Given the description of an element on the screen output the (x, y) to click on. 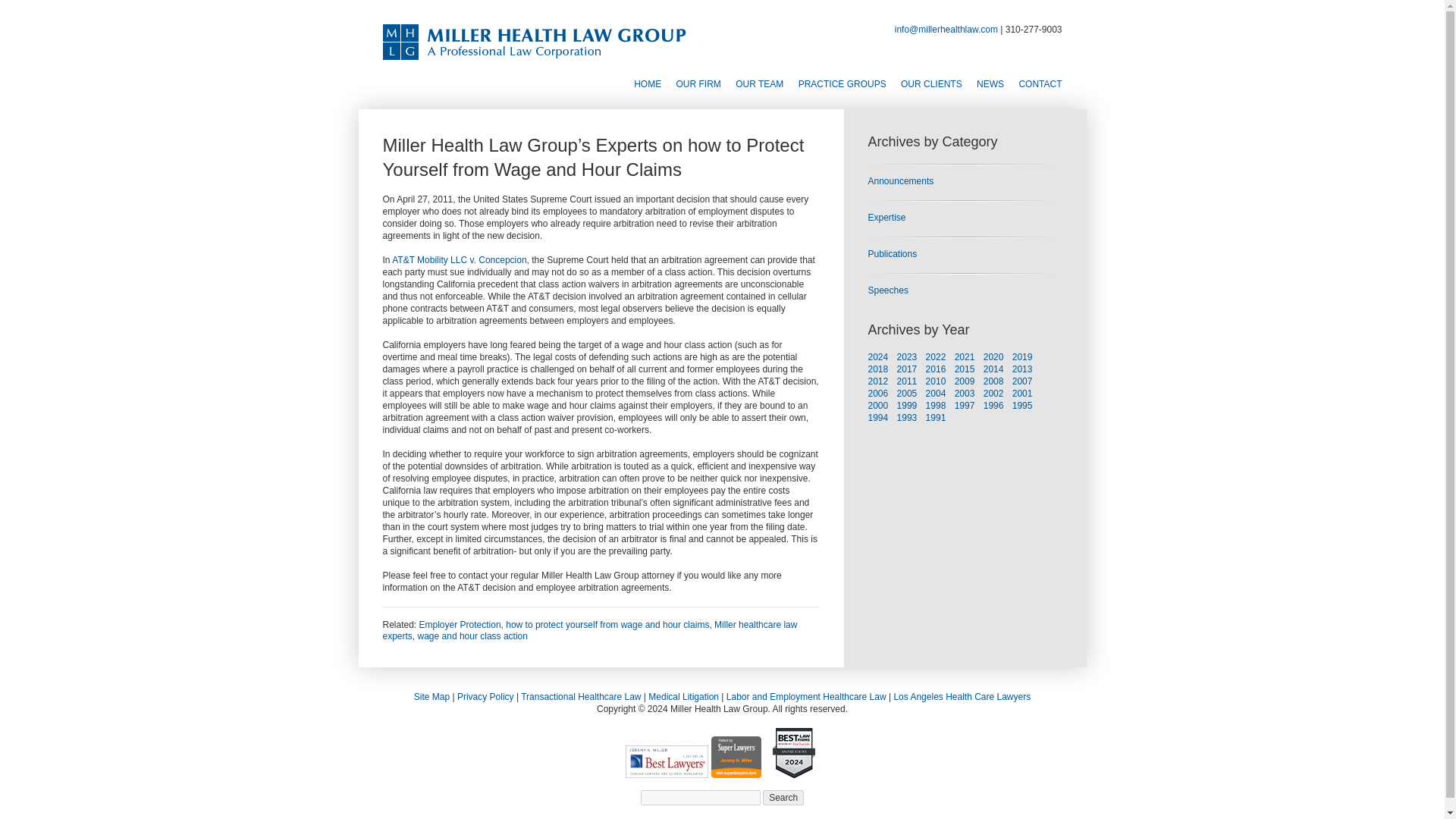
how to protect yourself from wage and hour claims (607, 624)
Site Map (431, 696)
Employer Protection (459, 624)
Transactional and Compliance (580, 696)
HOME (646, 84)
JNM Listed Lawyer Best Lawyer (666, 761)
wage and hour class action (472, 635)
OUR FIRM (697, 84)
Privacy (485, 696)
Litigation (683, 696)
